Given the description of an element on the screen output the (x, y) to click on. 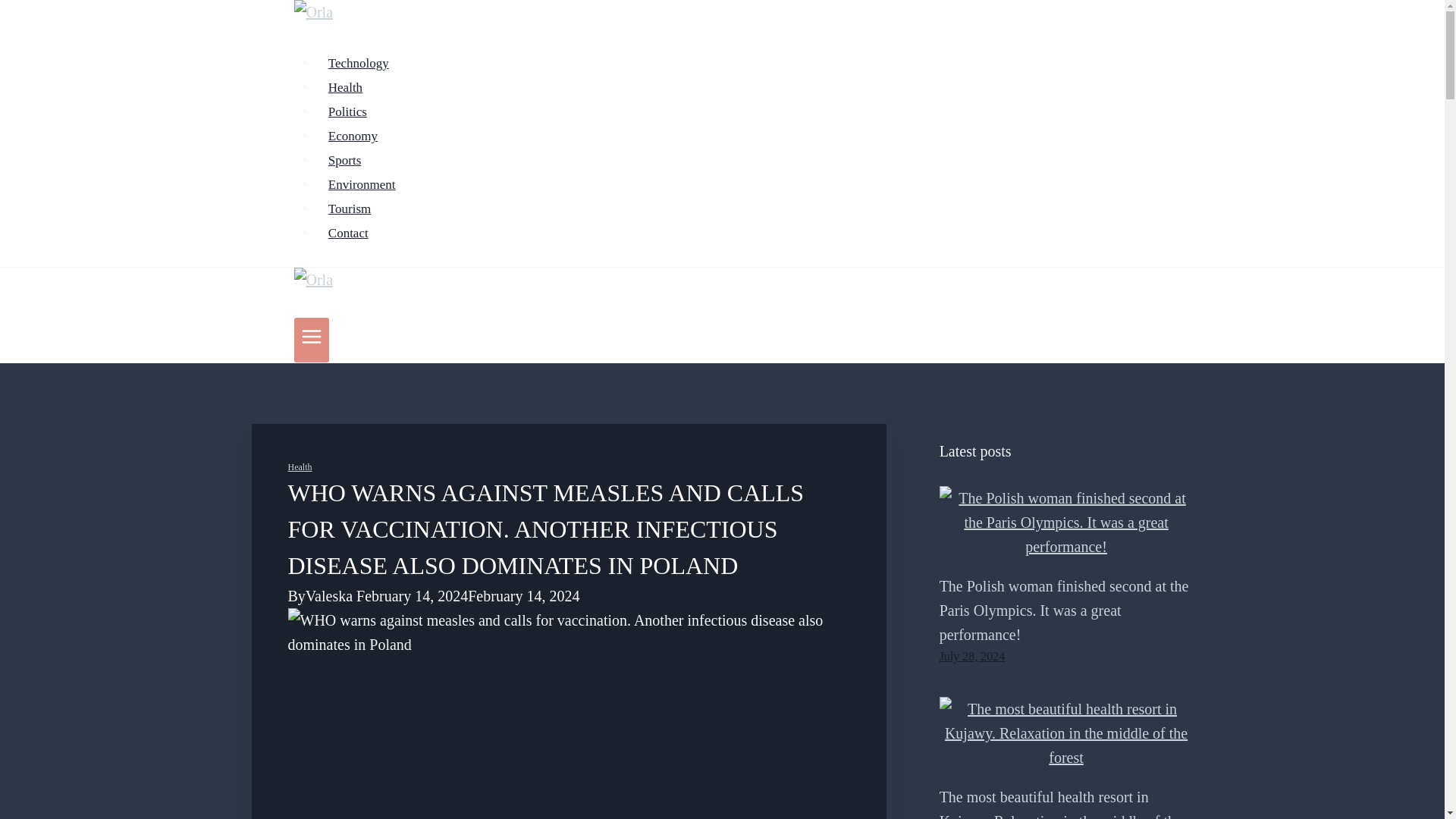
12:26 pm (972, 656)
July 28, 2024 (972, 656)
Health (345, 87)
Sports (344, 160)
Health (300, 466)
Tourism (349, 208)
Environment (362, 184)
Technology (359, 62)
Contact (348, 233)
Economy (353, 135)
Politics (347, 111)
